Given the description of an element on the screen output the (x, y) to click on. 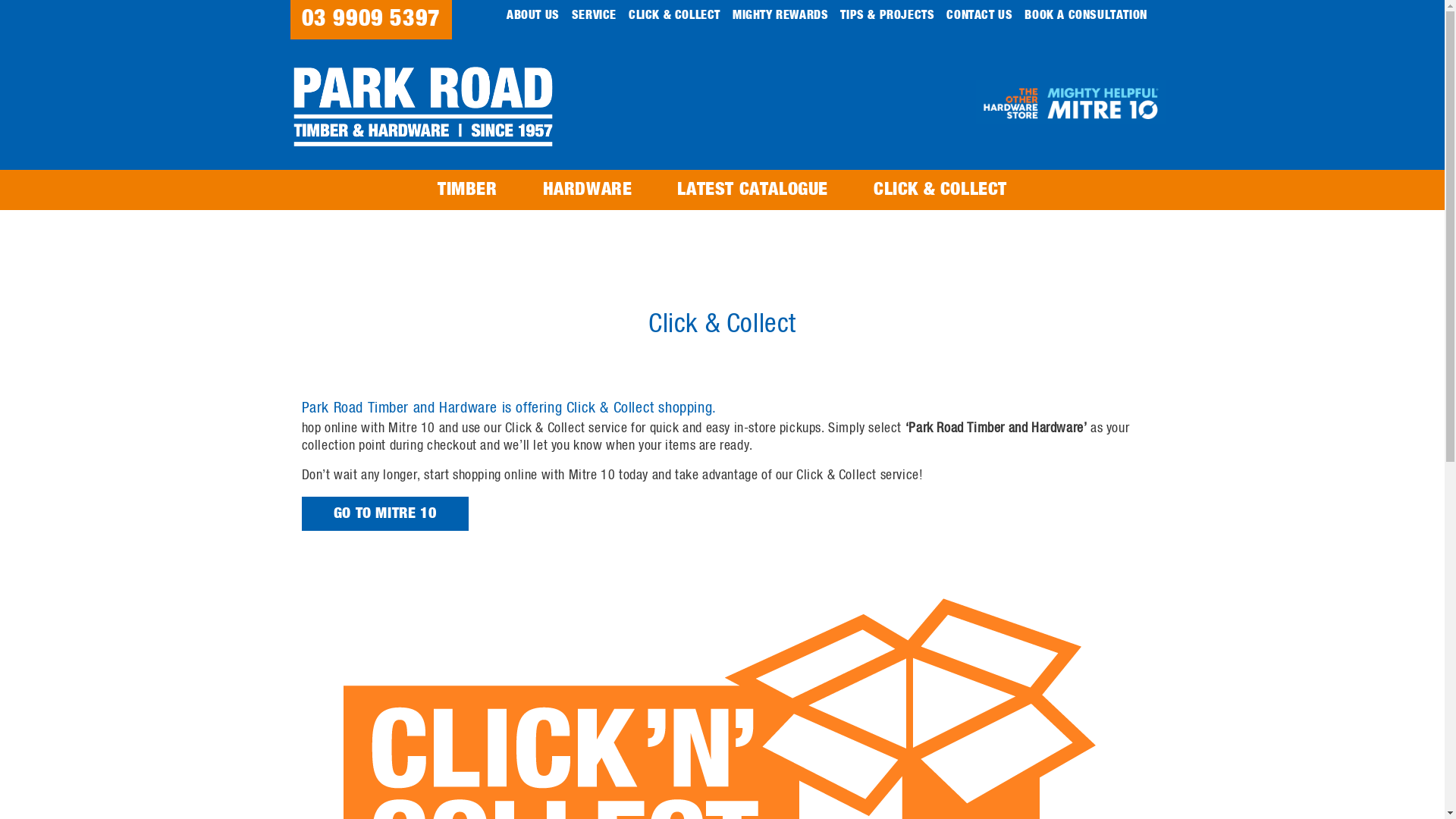
03 9909 5397 Element type: text (370, 19)
CONTACT US Element type: text (979, 15)
CLICK & COLLECT Element type: text (940, 189)
CLICK & COLLECT Element type: text (674, 15)
ABOUT US Element type: text (532, 15)
LATEST CATALOGUE Element type: text (752, 189)
SERVICE Element type: text (593, 15)
TIPS & PROJECTS Element type: text (887, 15)
Skip to main content Element type: text (0, 0)
MIGHTY REWARDS Element type: text (780, 15)
GO TO MITRE 10 Element type: text (384, 513)
BOOK A CONSULTATION Element type: text (1085, 15)
